Given the description of an element on the screen output the (x, y) to click on. 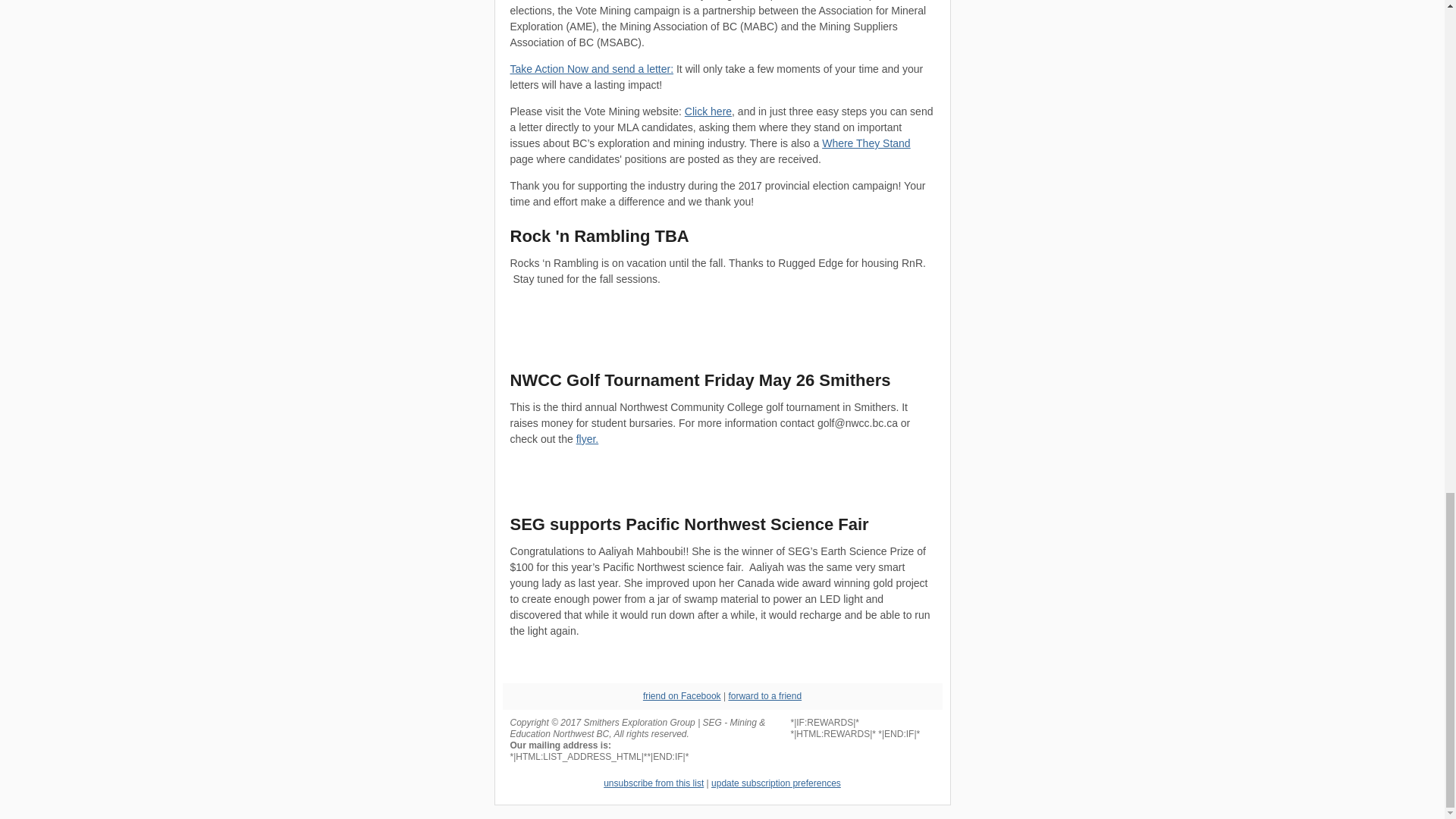
Take Action Now and send a letter: (590, 69)
Where They Stand (866, 143)
Click here (708, 111)
friend on Facebook (681, 696)
forward to a friend (765, 696)
update subscription preferences (776, 783)
flyer. (587, 439)
unsubscribe from this list (653, 783)
